Given the description of an element on the screen output the (x, y) to click on. 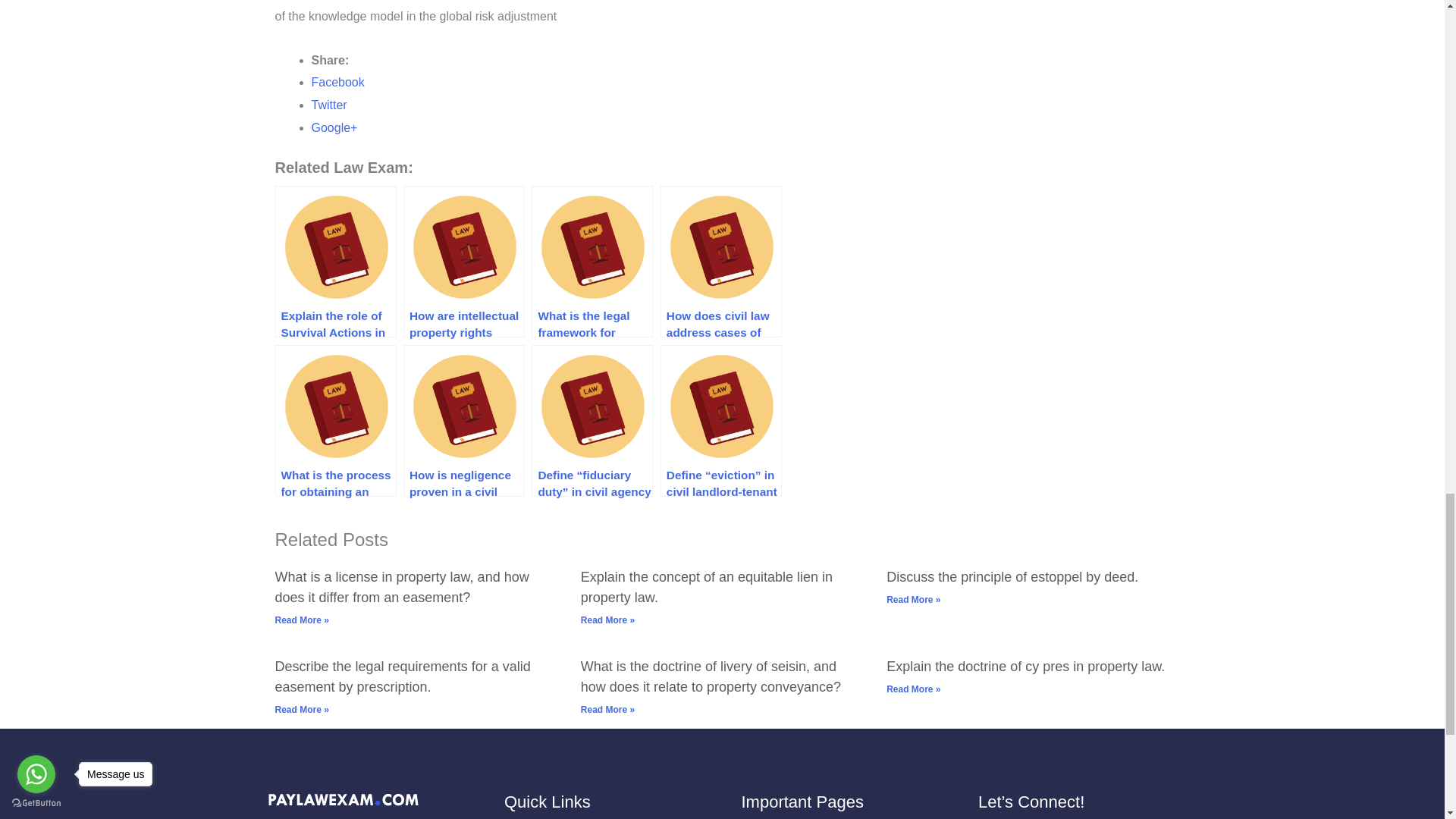
Twitter (328, 104)
Facebook (337, 82)
